Given the description of an element on the screen output the (x, y) to click on. 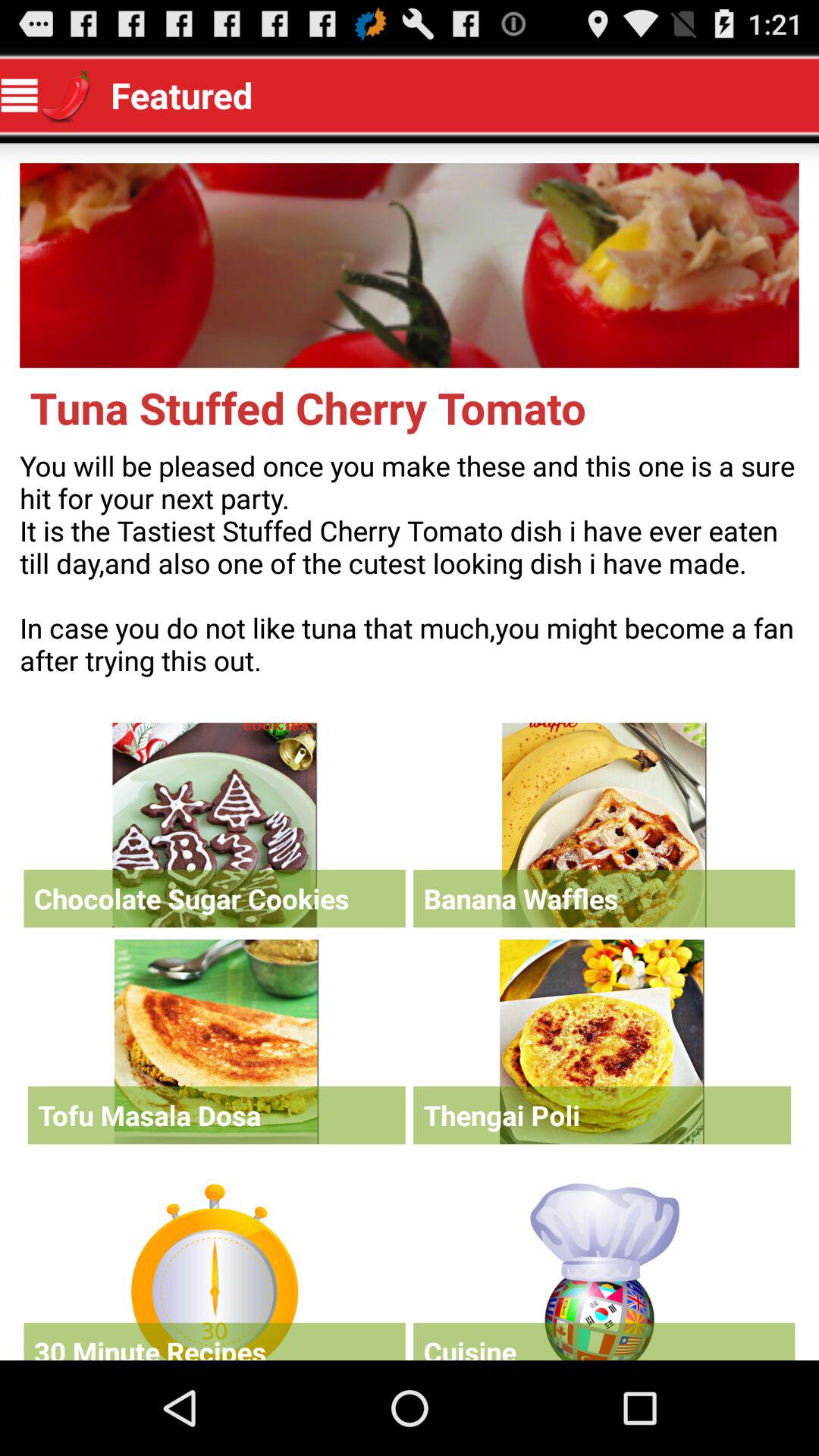
open main menu picture (409, 265)
